Given the description of an element on the screen output the (x, y) to click on. 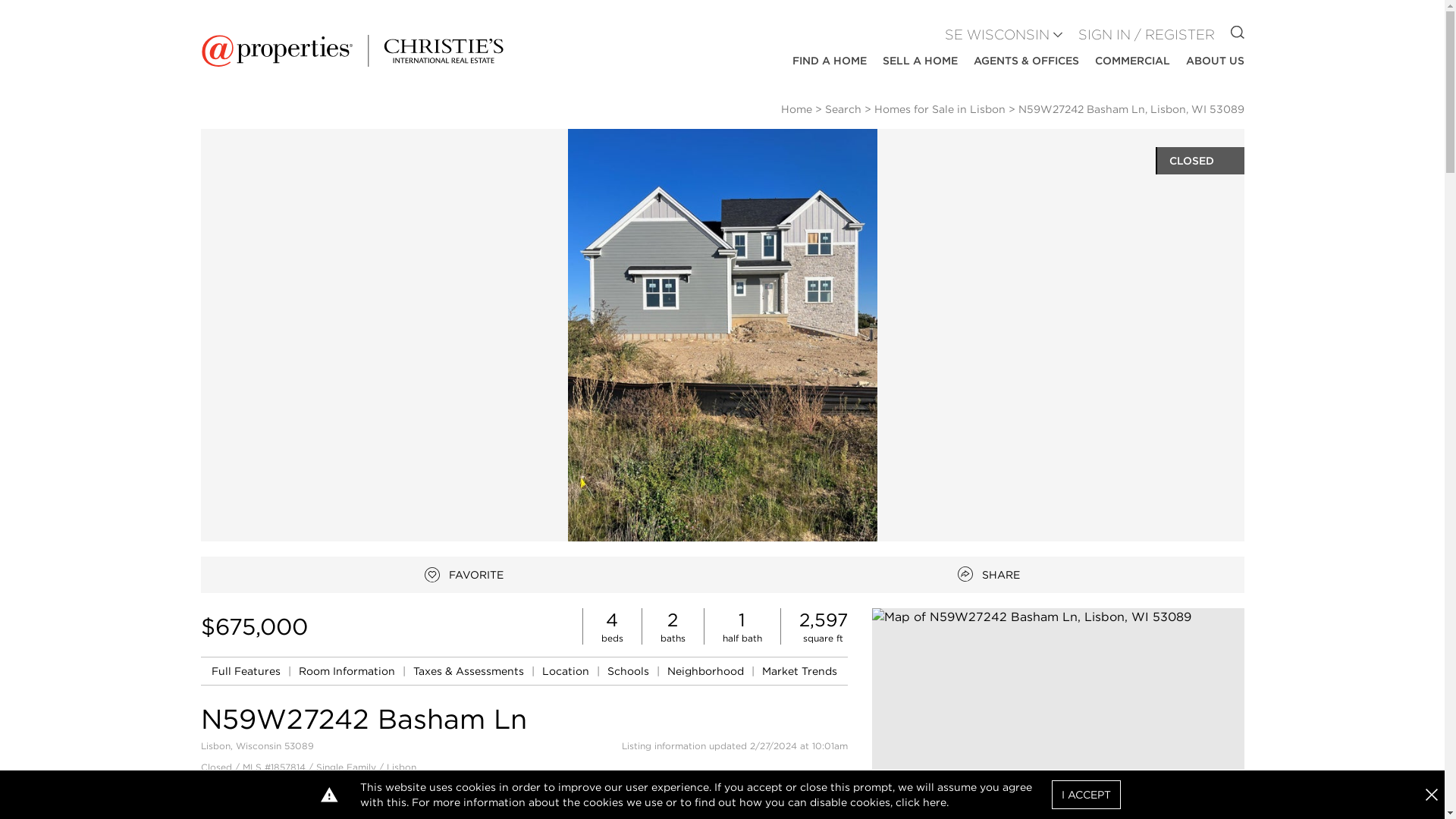
SELL A HOME (566, 671)
Full Features (920, 61)
ABOUT US (247, 671)
COMMERCIAL (1215, 61)
Market Trends (1132, 61)
SE WISCONSIN (799, 671)
Search (989, 574)
Schools (996, 34)
Neighborhood (464, 574)
Lisbon (843, 109)
Homes for Sale in Lisbon (629, 671)
